Given the description of an element on the screen output the (x, y) to click on. 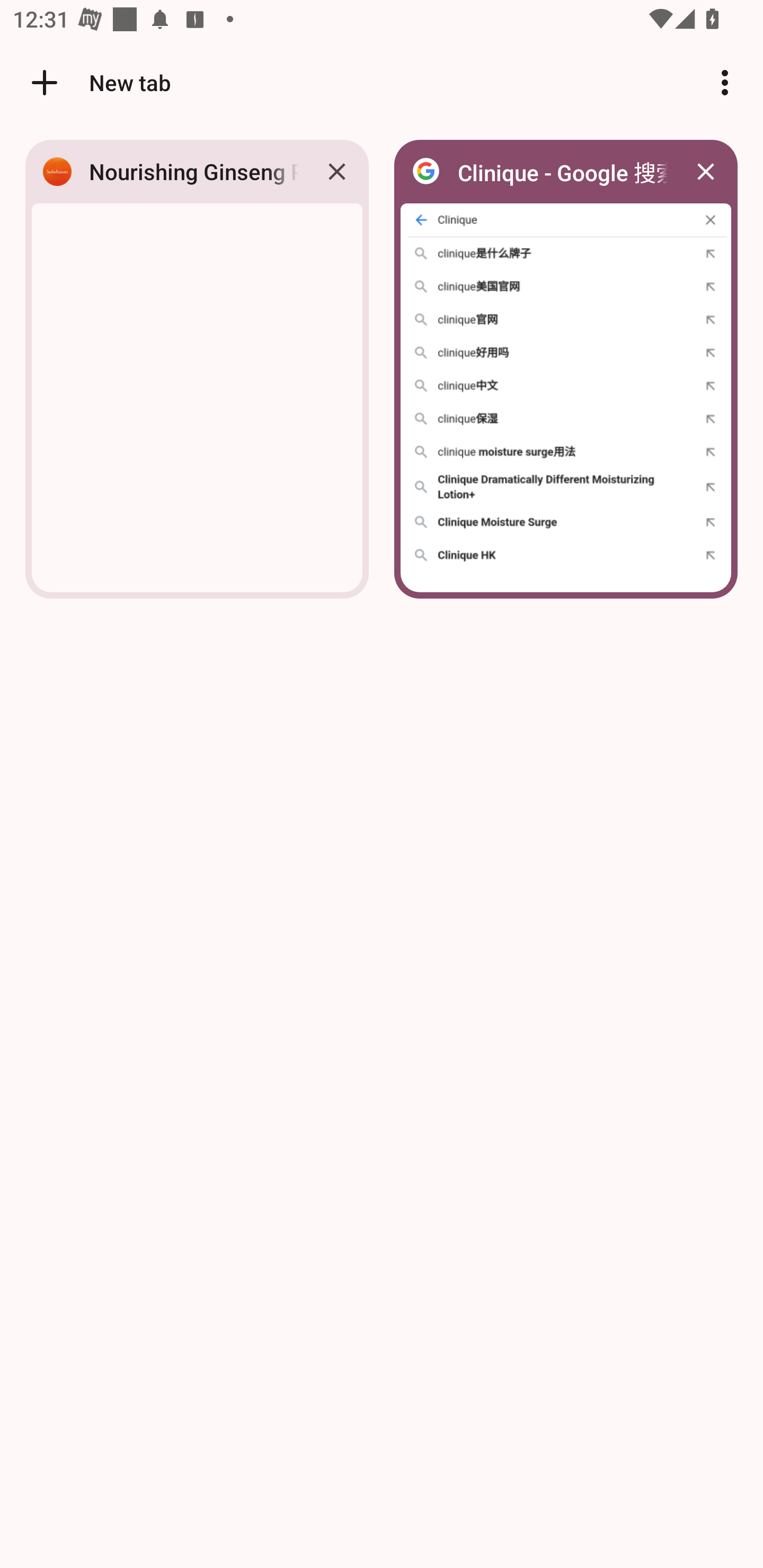
Open the home page (38, 82)
New tab (98, 82)
Customize and control Google Chrome (724, 82)
Close Clinique - Google 搜索 tab (705, 171)
